Given the description of an element on the screen output the (x, y) to click on. 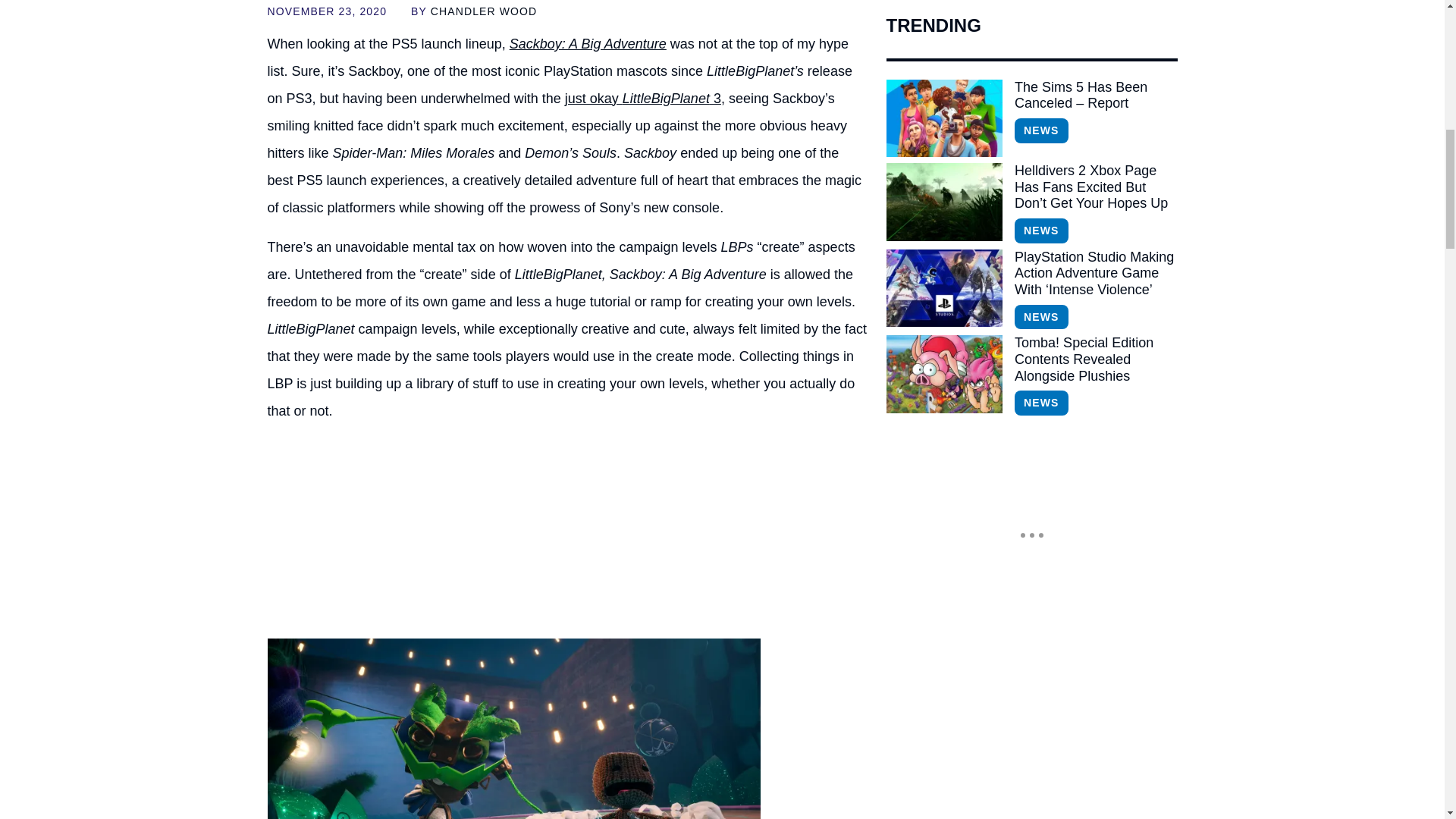
just okay LittleBigPlanet 3 (642, 98)
CHANDLER WOOD (483, 10)
Sackboy: A Big Adventure (587, 43)
Tomba! Special Edition Contents Revealed Alongside Plushies (1095, 359)
NEWS (1040, 130)
3rd party ad content (566, 531)
Tomba! Special Edition Contents Revealed Alongside Plushies (944, 373)
